Given the description of an element on the screen output the (x, y) to click on. 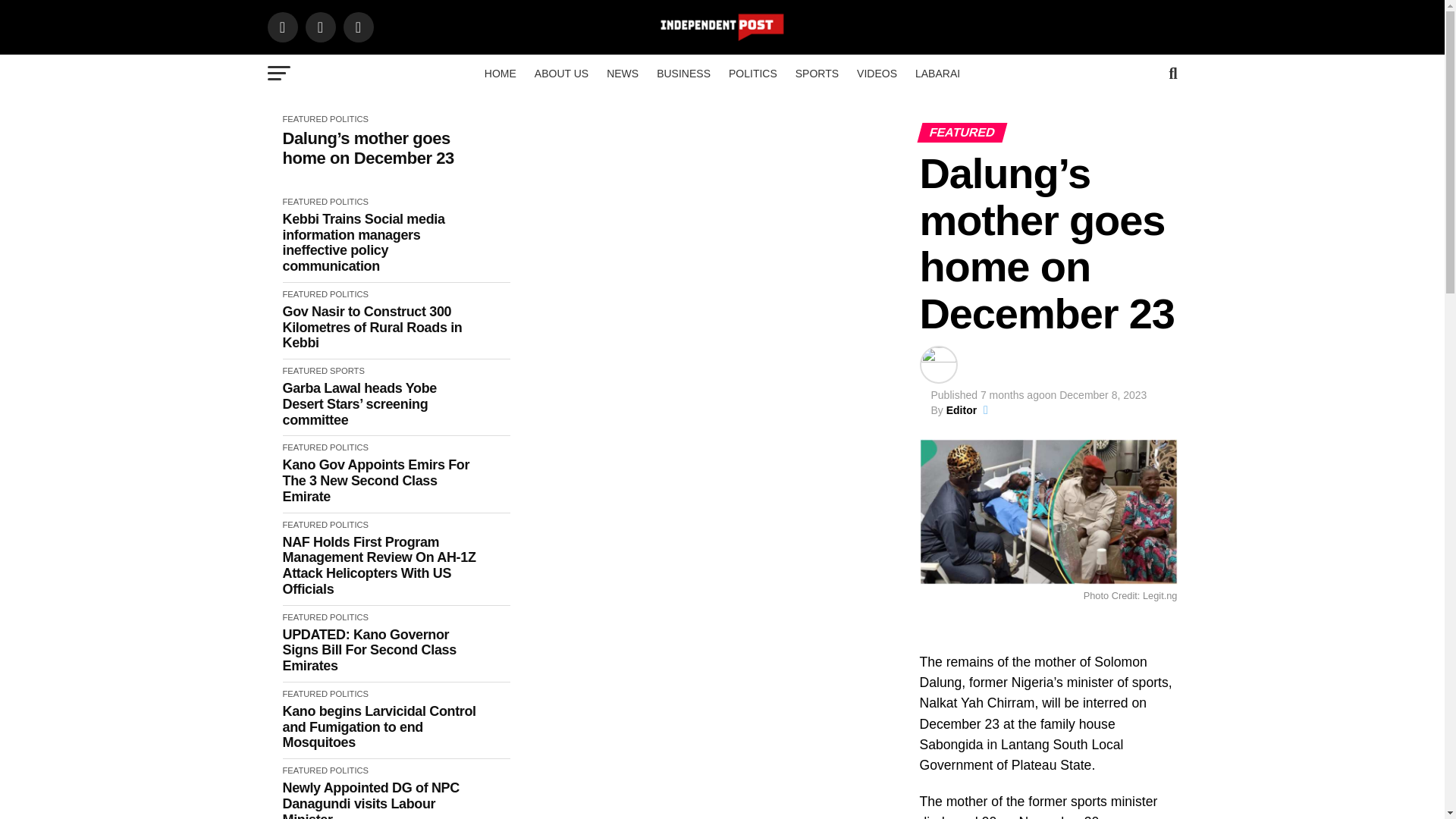
SPORTS (816, 73)
ABOUT US (560, 73)
Posts by Editor (961, 410)
BUSINESS (683, 73)
NEWS (621, 73)
HOME (500, 73)
VIDEOS (876, 73)
POLITICS (752, 73)
